Given the description of an element on the screen output the (x, y) to click on. 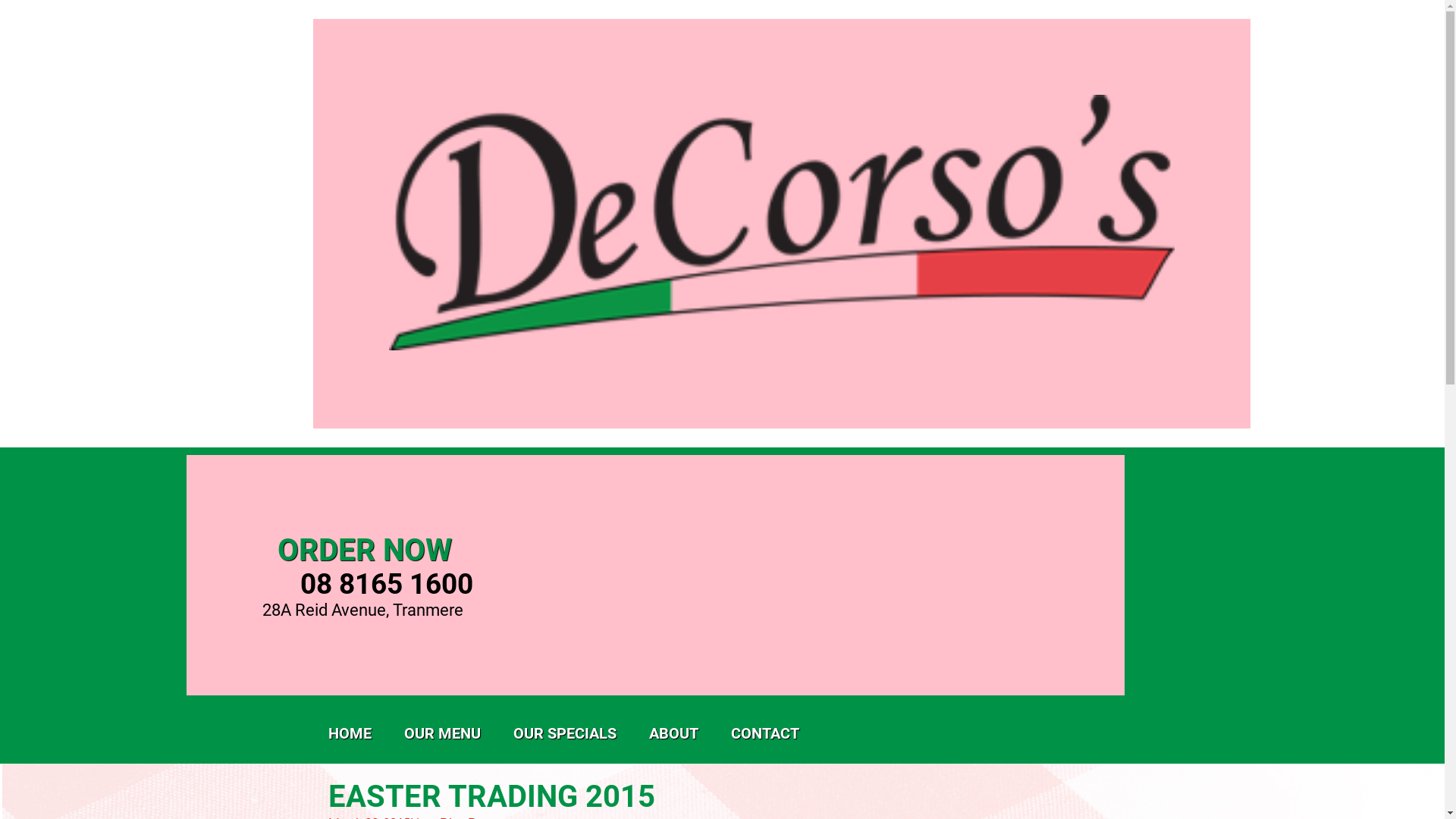
GALLERY Element type: text (716, 774)
HOME Element type: text (348, 732)
CONTACT Element type: text (764, 732)
OUR SPECIALS Element type: text (563, 732)
OUR MENU Element type: text (441, 732)
Decorso's Element type: hover (781, 345)
ABOUT Element type: text (673, 732)
